Given the description of an element on the screen output the (x, y) to click on. 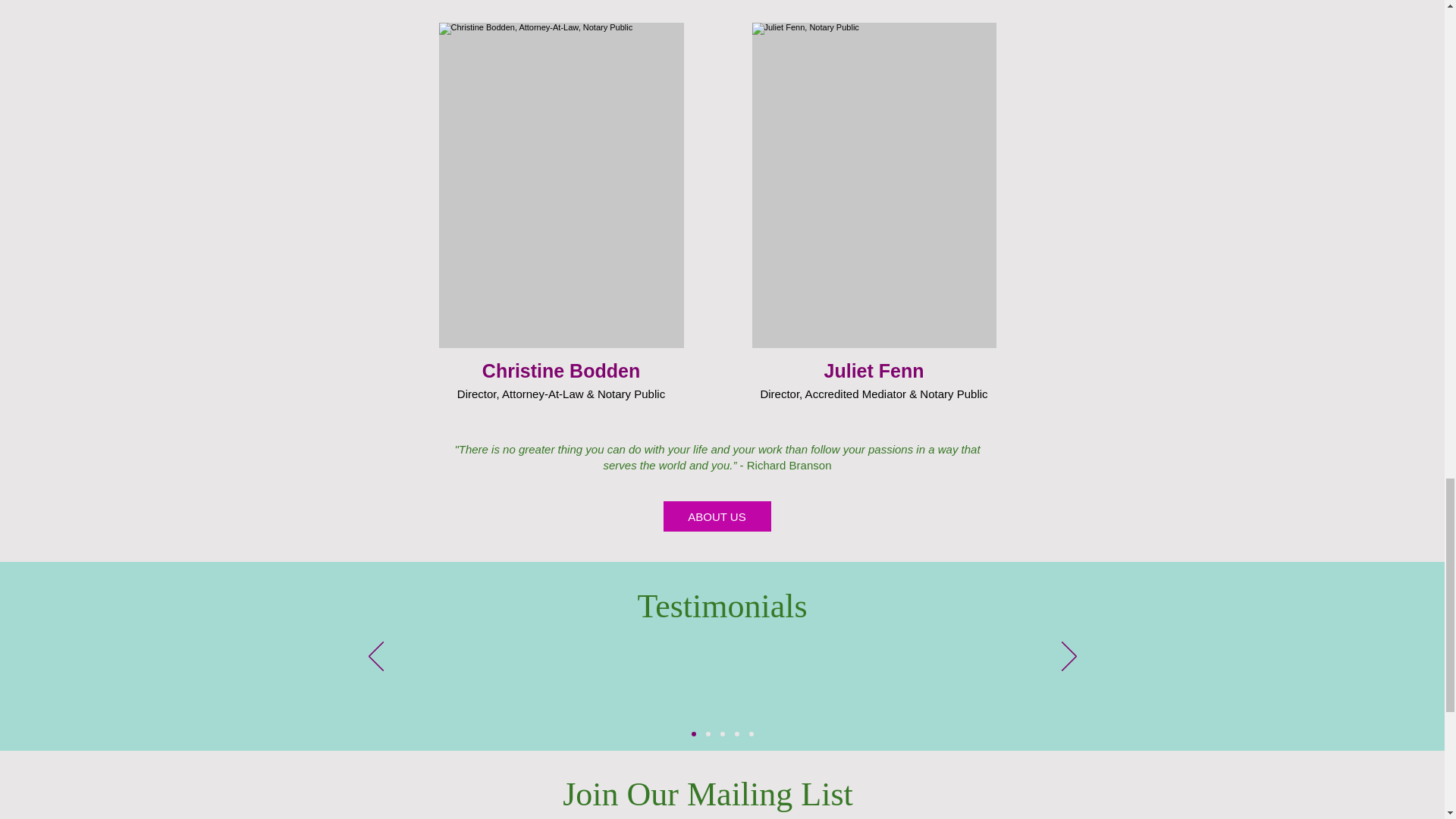
ABOUT US (716, 516)
